Given the description of an element on the screen output the (x, y) to click on. 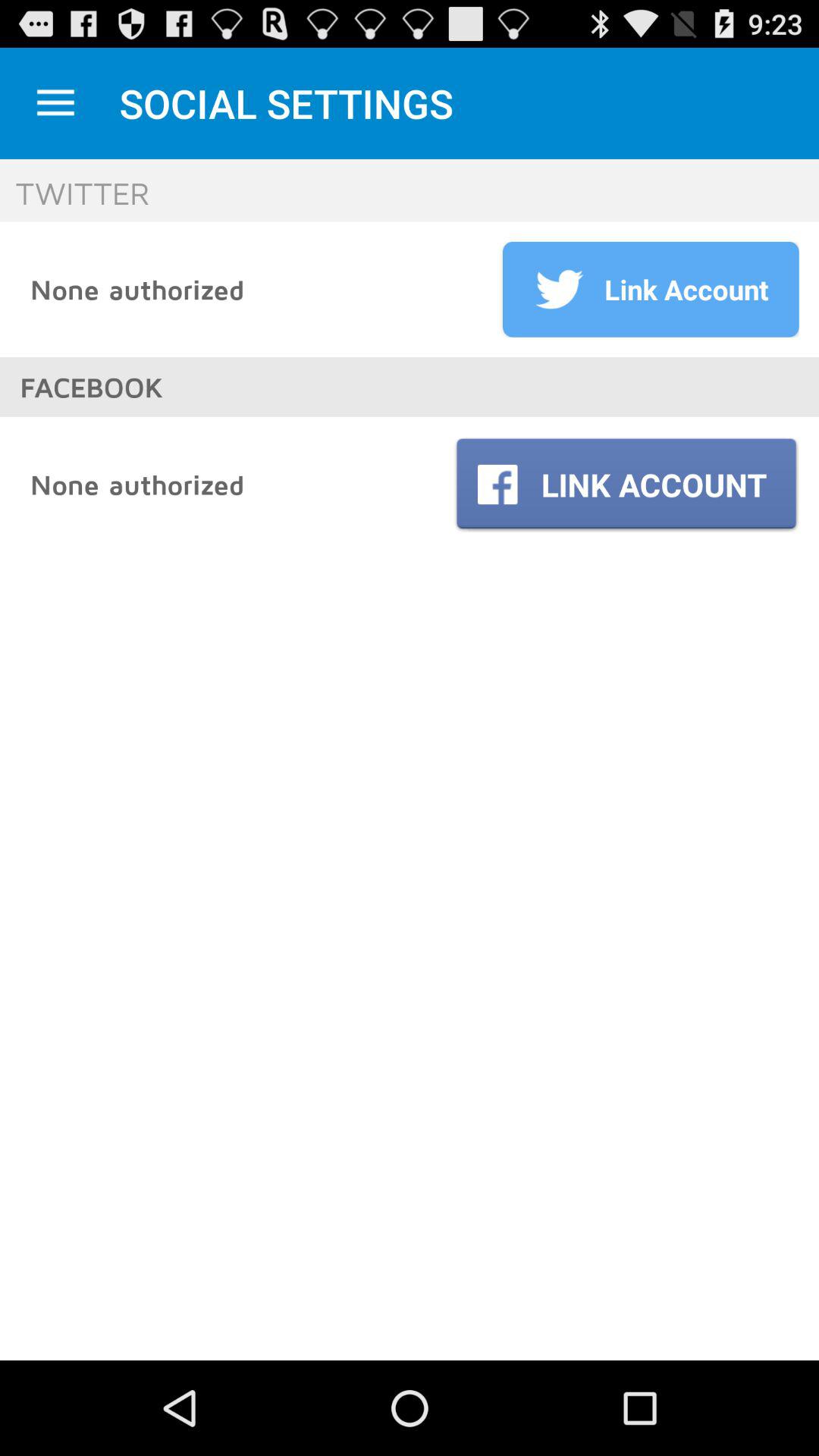
go to minimize (55, 103)
